Given the description of an element on the screen output the (x, y) to click on. 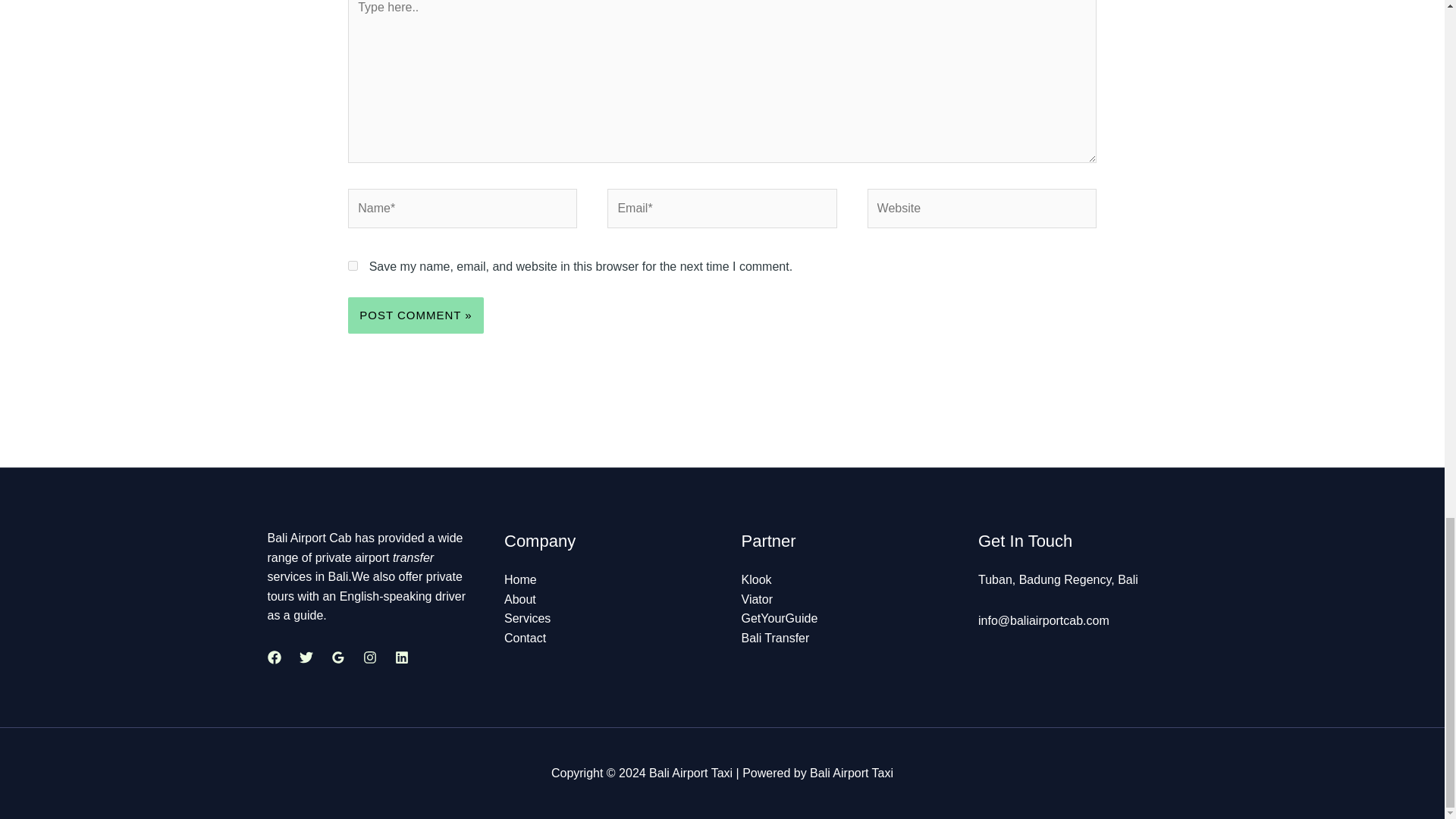
Klook (756, 579)
About (519, 599)
yes (352, 266)
Services (526, 617)
Home (520, 579)
Contact (524, 637)
